Given the description of an element on the screen output the (x, y) to click on. 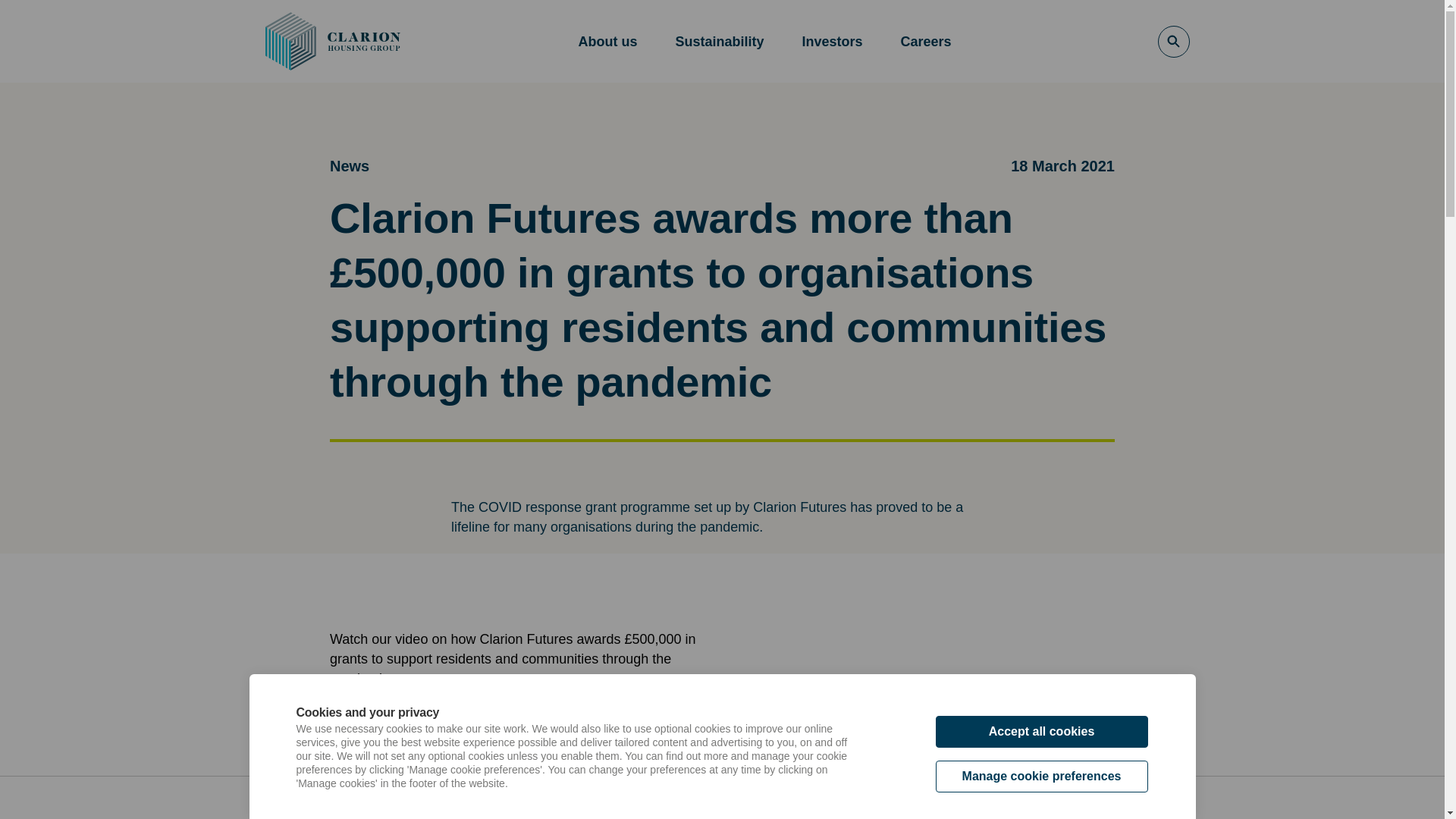
Clarion Housing Group (331, 41)
Sustainability (718, 40)
OpenSearch (1173, 41)
Investors (831, 40)
Careers (926, 40)
About us (607, 40)
